Given the description of an element on the screen output the (x, y) to click on. 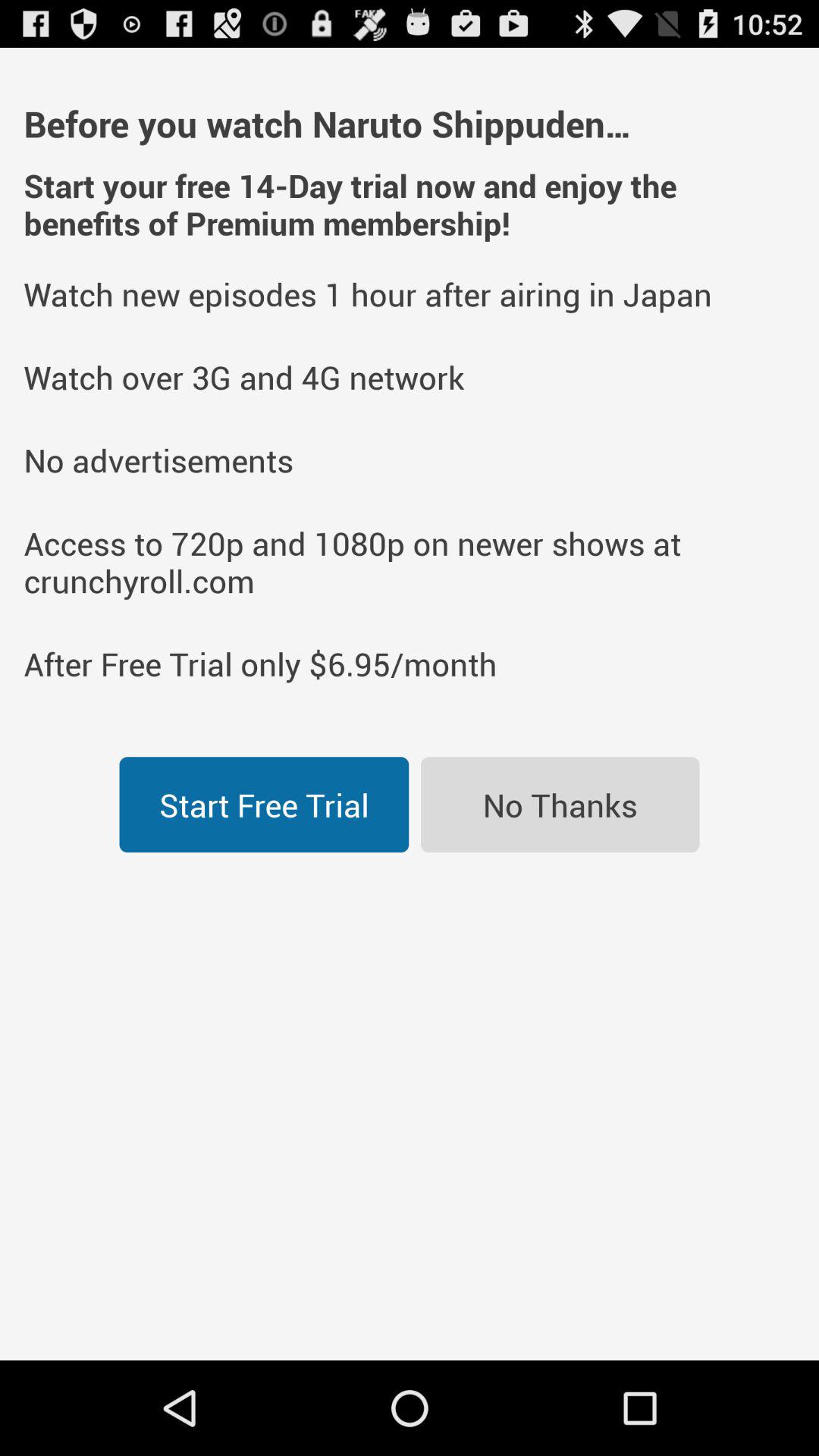
turn on no thanks on the right (559, 804)
